Given the description of an element on the screen output the (x, y) to click on. 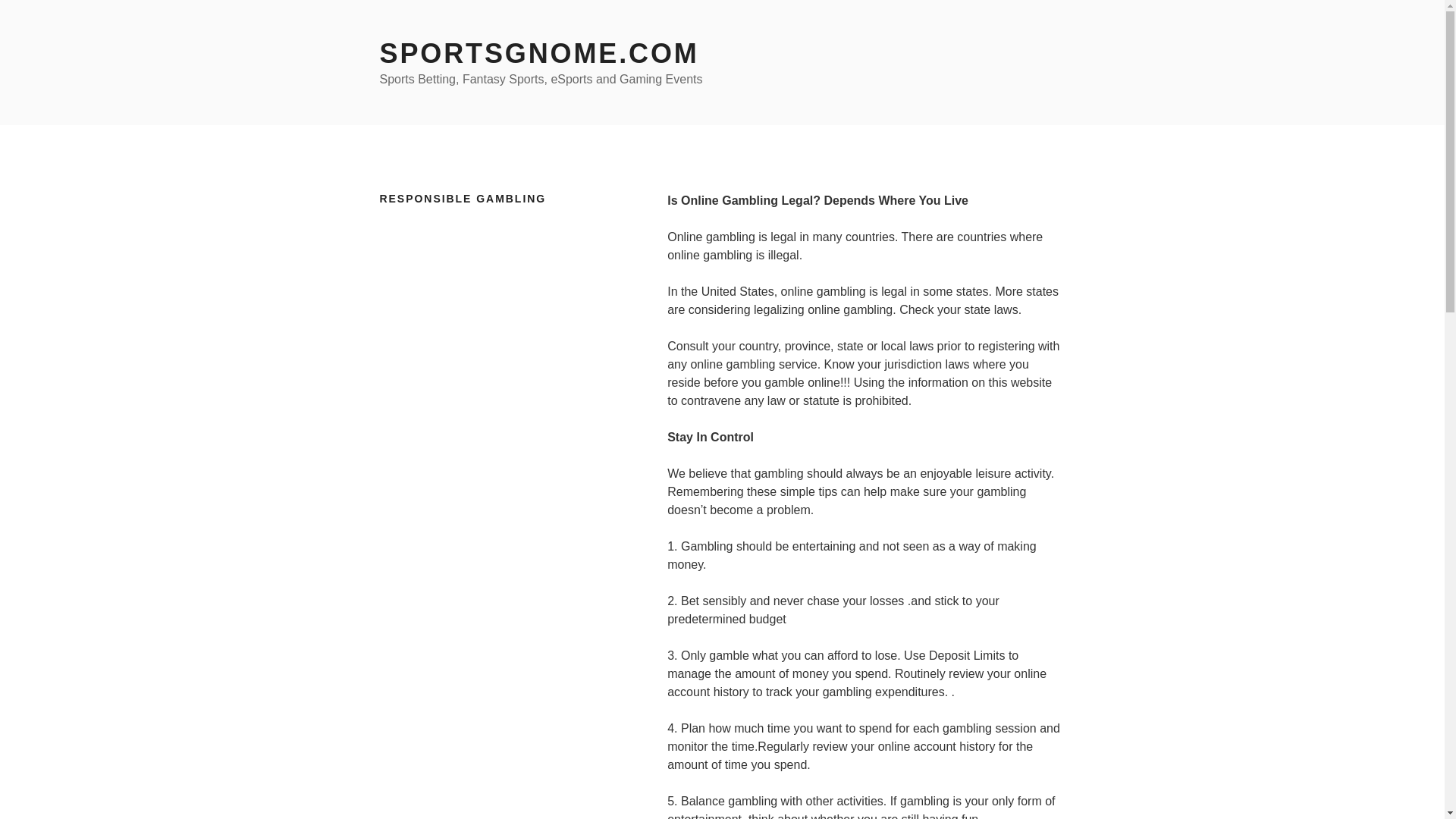
SPORTSGNOME.COM (538, 52)
